Given the description of an element on the screen output the (x, y) to click on. 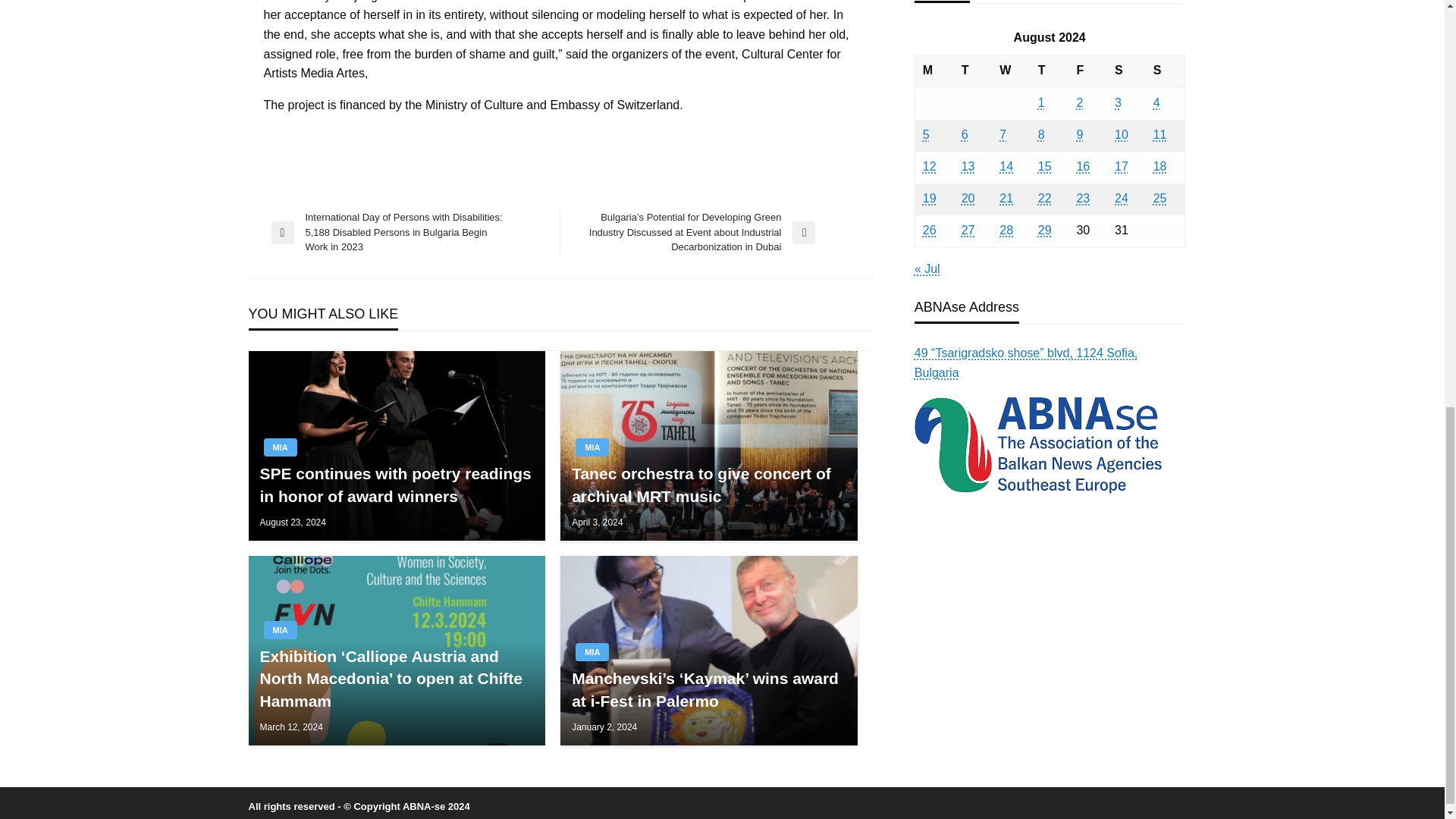
MIA (591, 447)
Tanec orchestra to give concert of archival MRT music (708, 484)
SPE continues with poetry readings in honor of award winners (396, 484)
MIA (280, 447)
Monday (933, 71)
